Given the description of an element on the screen output the (x, y) to click on. 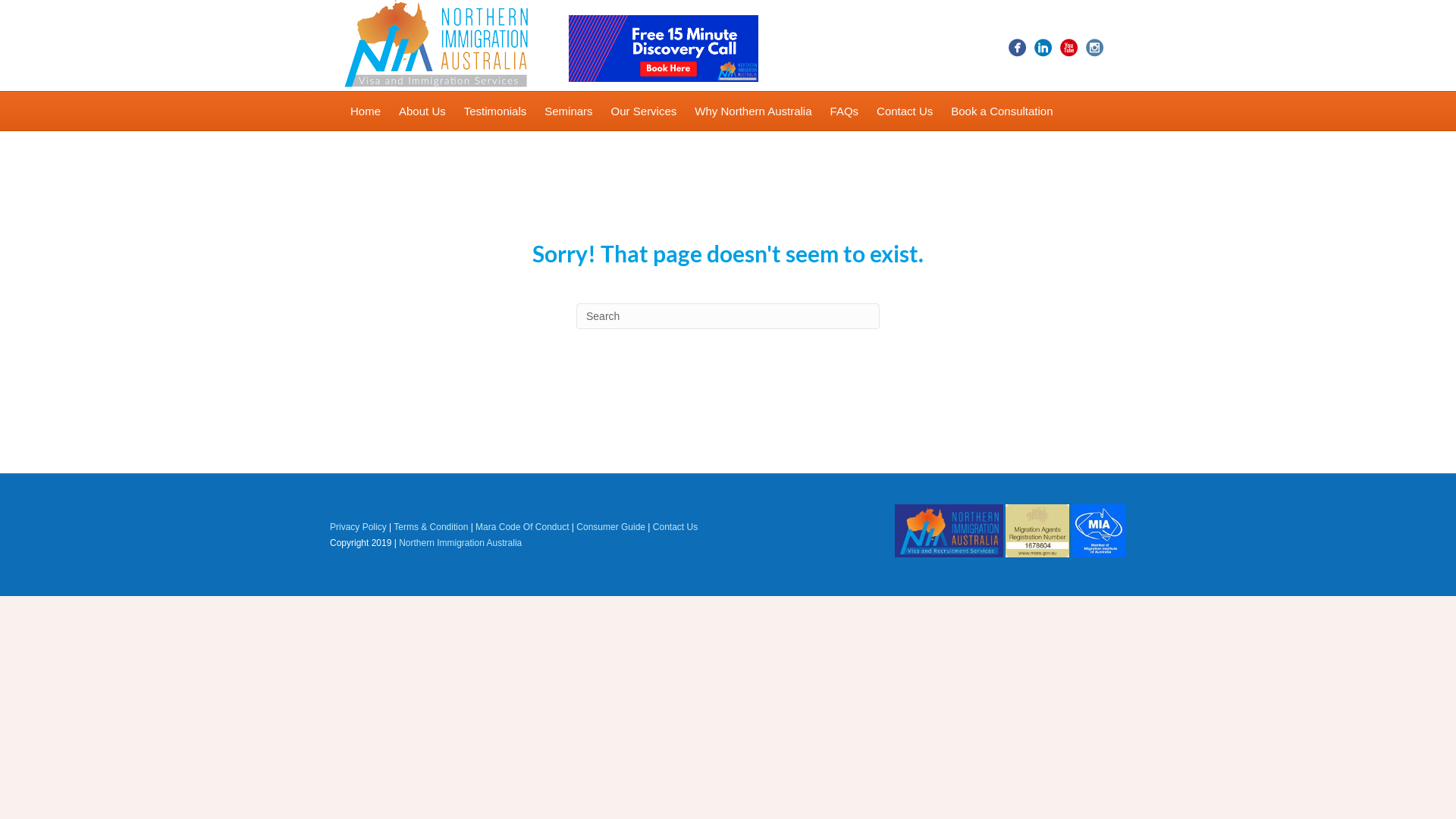
Type and press Enter to search. Element type: hover (727, 316)
Terms & Condition Element type: text (430, 526)
Consumer Guide Element type: text (610, 526)
Home Element type: text (365, 110)
Book a Consultation Element type: text (1001, 110)
FAQs Element type: text (844, 110)
About Us Element type: text (422, 110)
Why Northern Australia Element type: text (752, 110)
Testimonials Element type: text (495, 110)
Our Services Element type: text (644, 110)
Contact Us Element type: text (674, 526)
Northern Immigration Australia Element type: text (459, 542)
Seminars Element type: text (568, 110)
Privacy Policy Element type: text (357, 526)
Mara Code Of Conduct Element type: text (521, 526)
Contact Us Element type: text (904, 110)
